Given the description of an element on the screen output the (x, y) to click on. 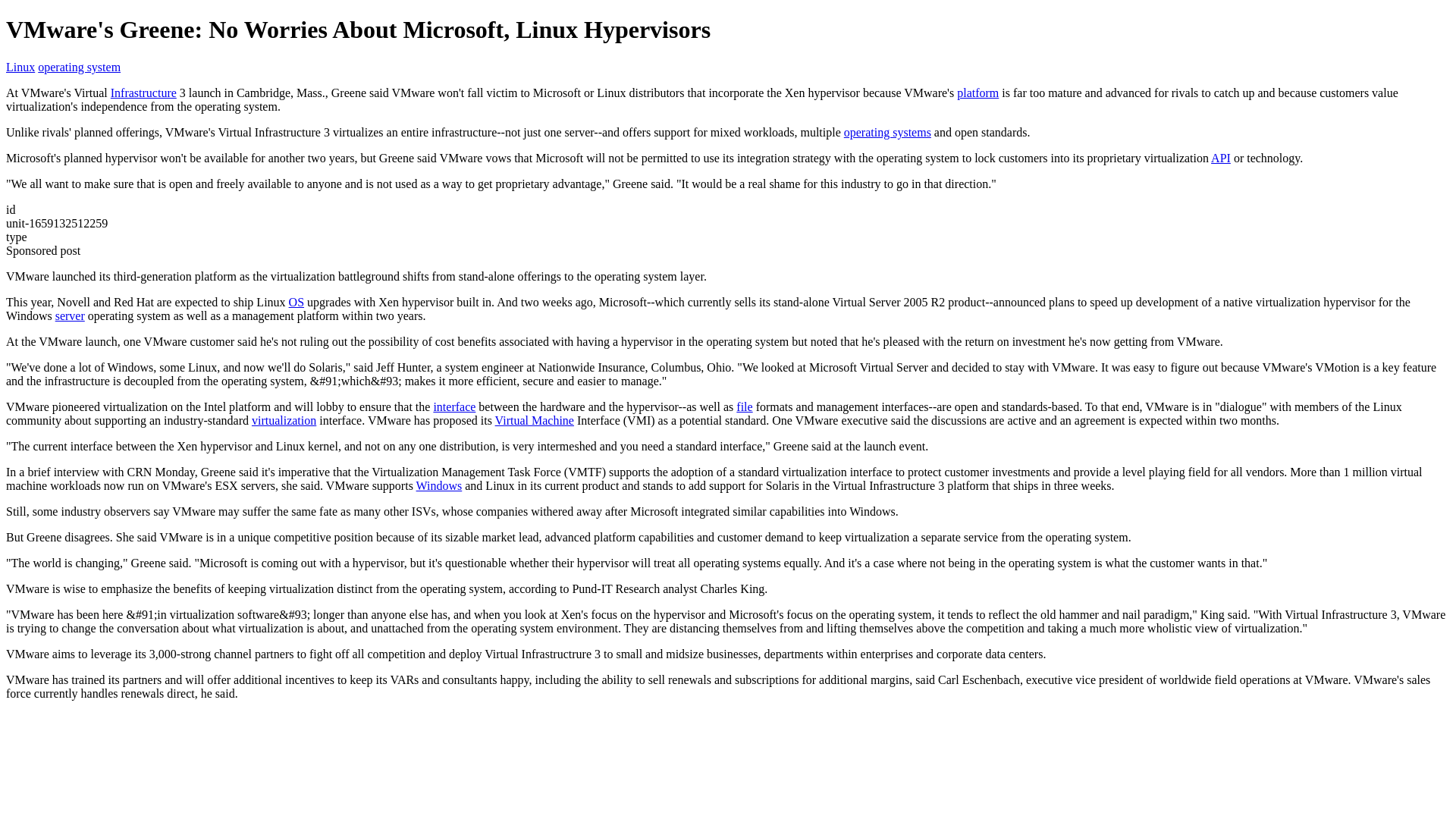
server (69, 315)
API (1220, 157)
operating systems (887, 132)
platform (977, 92)
OS (296, 301)
interface (454, 406)
virtualization (283, 420)
Virtual Machine (534, 420)
Windows (439, 485)
file (744, 406)
Infrastructure (143, 92)
Linux (19, 66)
operating system (78, 66)
